Given the description of an element on the screen output the (x, y) to click on. 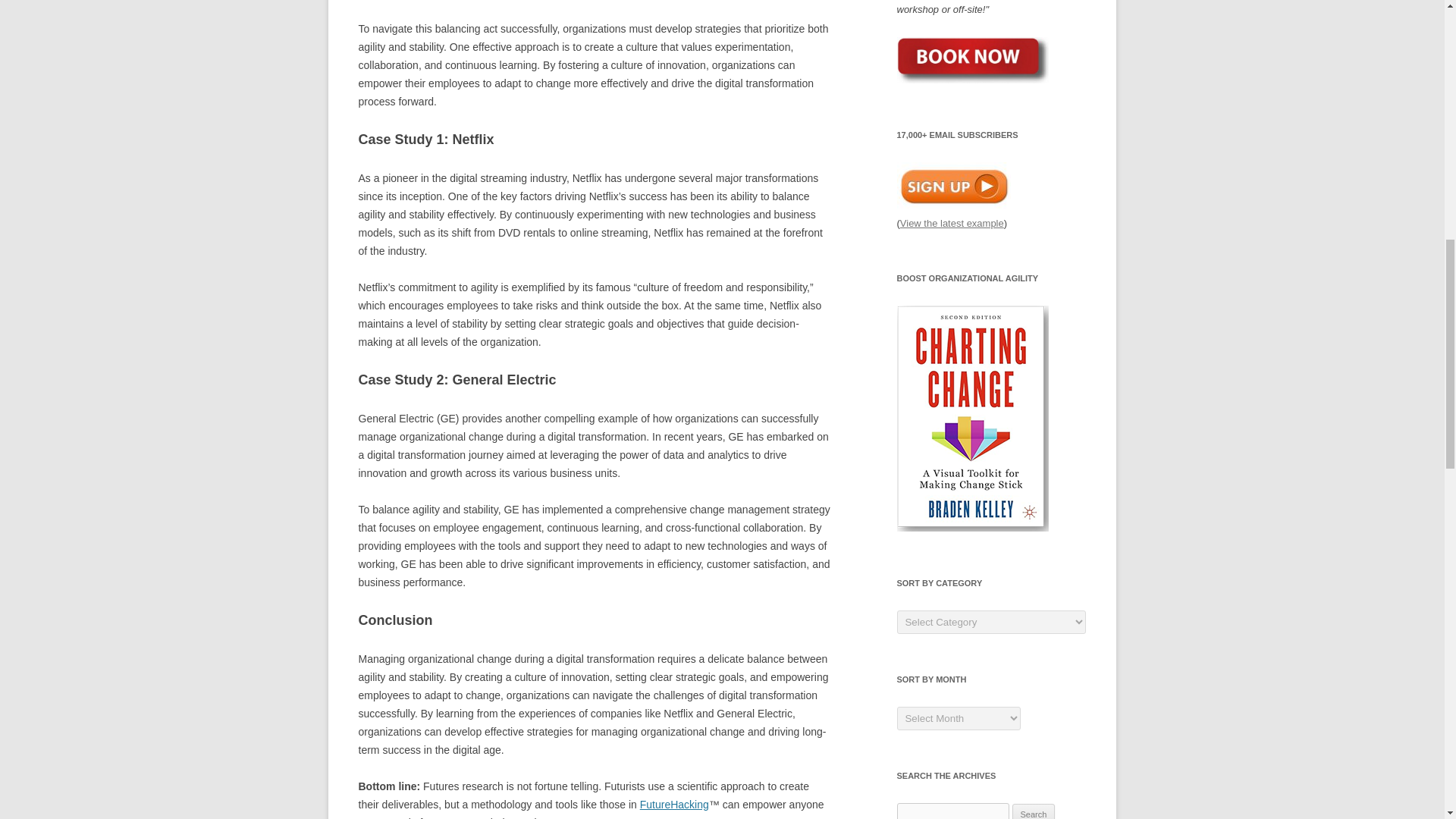
FutureHacking (674, 804)
Sign up for the Braden Kelley Monthly update (953, 185)
Search (1033, 811)
